Given the description of an element on the screen output the (x, y) to click on. 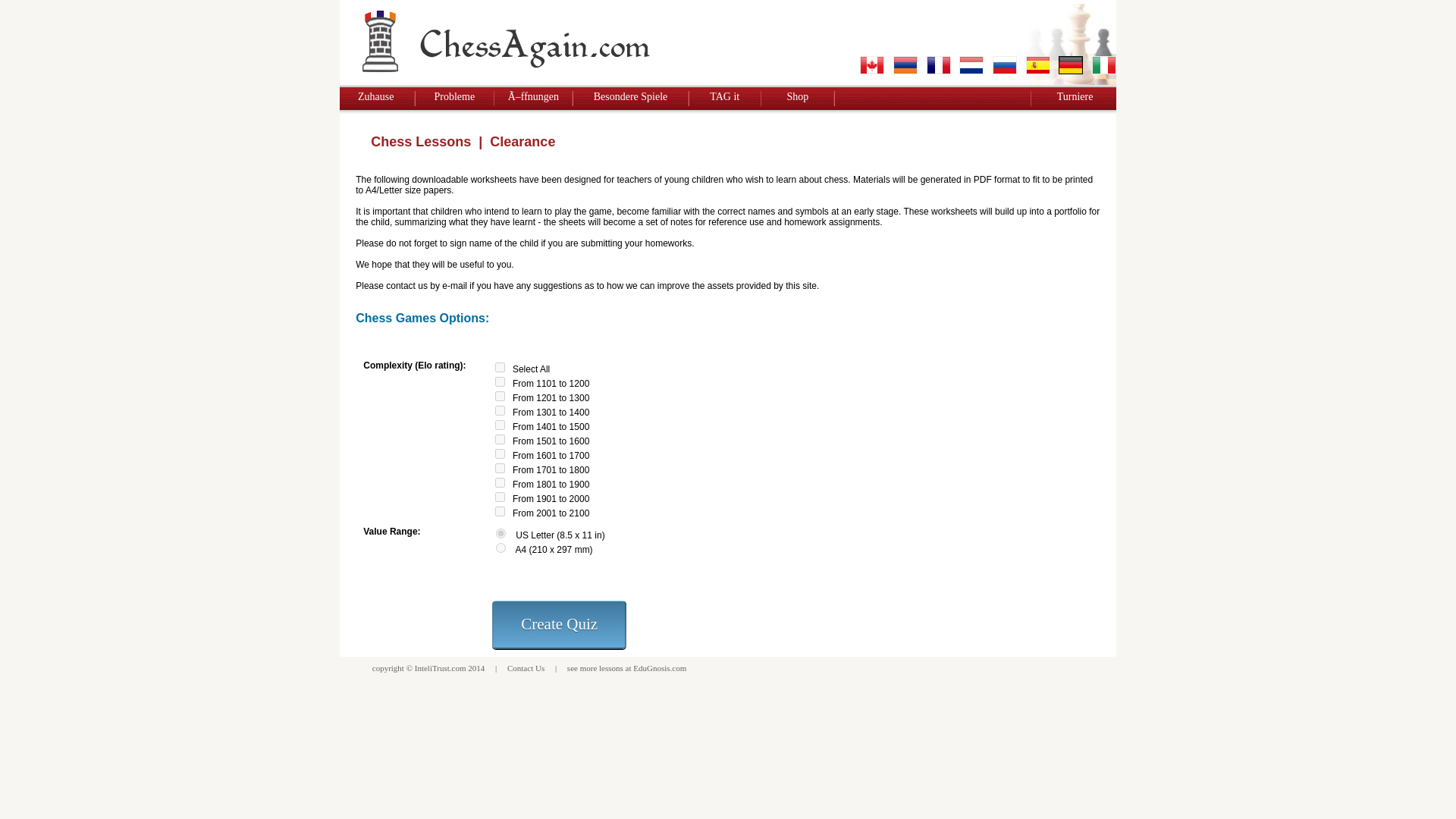
InteliTrust.com (439, 667)
on (500, 367)
Contact Us (525, 667)
Turniere (1075, 96)
Create Quiz (559, 624)
Germany (1070, 65)
Probleme (453, 96)
English (871, 65)
Shop (797, 96)
Chess Again Logo (506, 42)
Chess Lessons (420, 141)
Netherlands (971, 65)
Italian (1104, 65)
lessons (610, 667)
EduGnosis.com (659, 667)
